Given the description of an element on the screen output the (x, y) to click on. 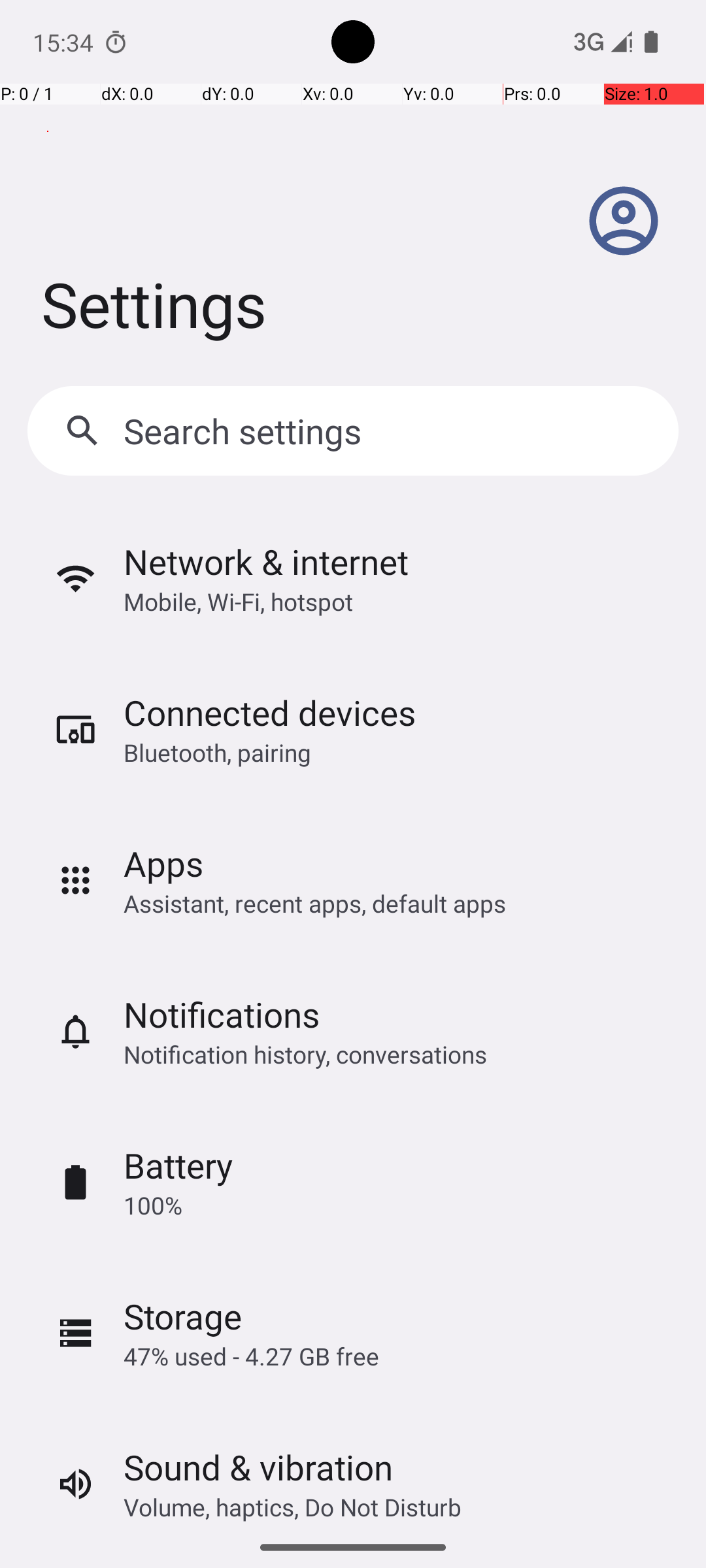
47% used - 4.27 GB free Element type: android.widget.TextView (251, 1355)
